Given the description of an element on the screen output the (x, y) to click on. 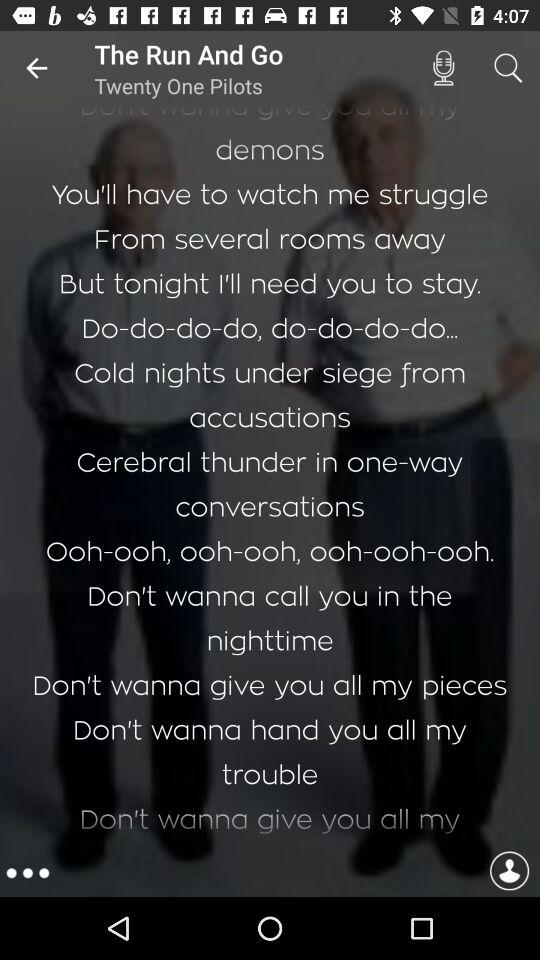
choose icon above i can t item (508, 67)
